Given the description of an element on the screen output the (x, y) to click on. 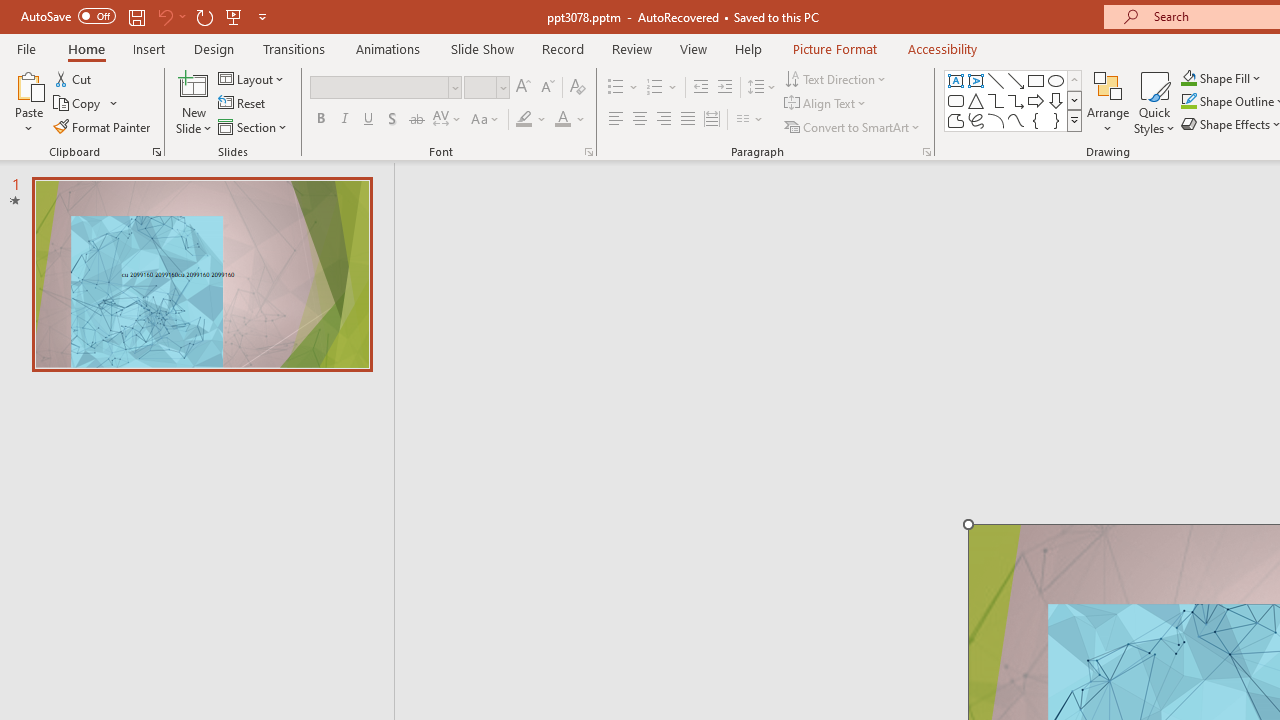
Shape Fill Dark Green, Accent 2 (1188, 78)
